Given the description of an element on the screen output the (x, y) to click on. 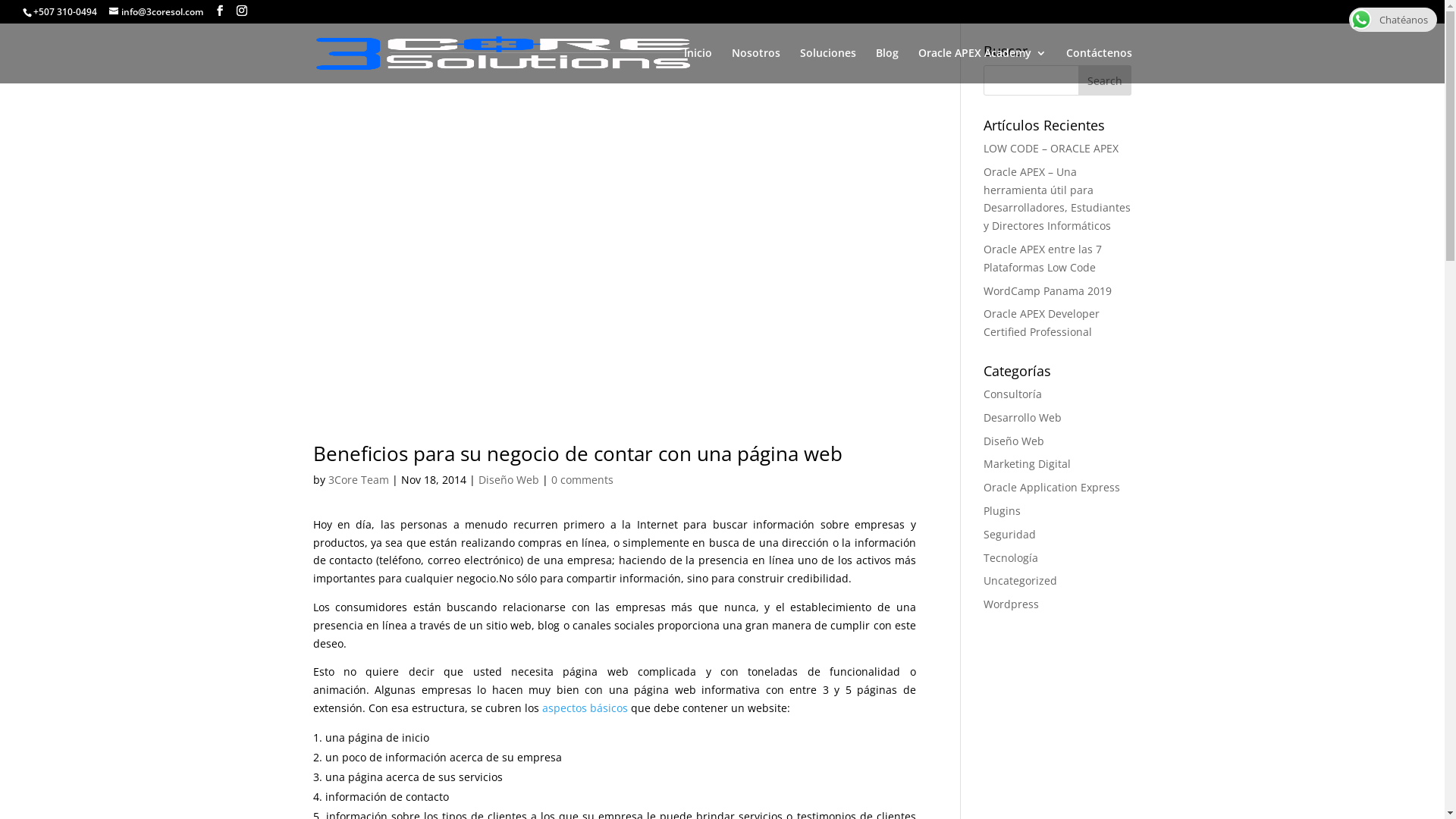
Nosotros Element type: text (755, 65)
Blog Element type: text (886, 65)
Inicio Element type: text (698, 65)
+507 310-0494 Element type: text (65, 11)
Desarrollo Web Element type: text (1022, 417)
Oracle APEX Academy Element type: text (981, 65)
Oracle Application Express Element type: text (1051, 487)
Seguridad Element type: text (1009, 534)
Oracle APEX Developer Certified Professional Element type: text (1041, 322)
3Core Team Element type: text (357, 479)
Search Element type: text (1104, 80)
info@3coresol.com Element type: text (156, 11)
Uncategorized Element type: text (1020, 580)
Plugins Element type: text (1001, 510)
Marketing Digital Element type: text (1026, 463)
Oracle APEX entre las 7 Plataformas Low Code Element type: text (1042, 257)
Soluciones Element type: text (827, 65)
0 comments Element type: text (581, 479)
WordCamp Panama 2019 Element type: text (1047, 290)
Wordpress Element type: text (1010, 603)
